Given the description of an element on the screen output the (x, y) to click on. 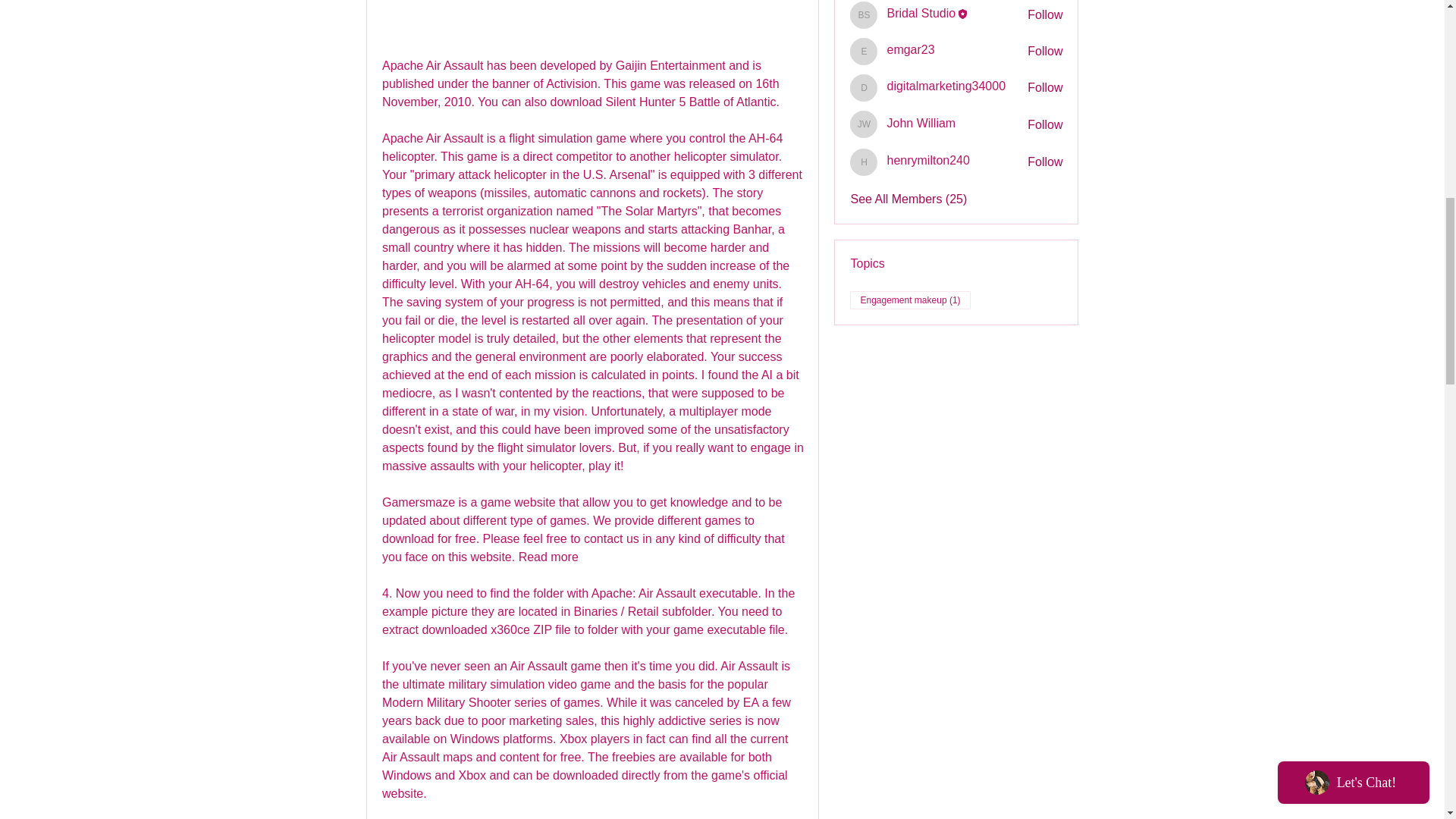
John William (863, 124)
digitalmarketing34000 (946, 86)
Bridal Studio (920, 13)
John William (920, 123)
emgar23 (910, 49)
Bridal Studio (863, 14)
emgar23 (863, 51)
digitalmarketing34000 (863, 87)
henrymilton240 (927, 160)
henrymilton240 (863, 162)
